Given the description of an element on the screen output the (x, y) to click on. 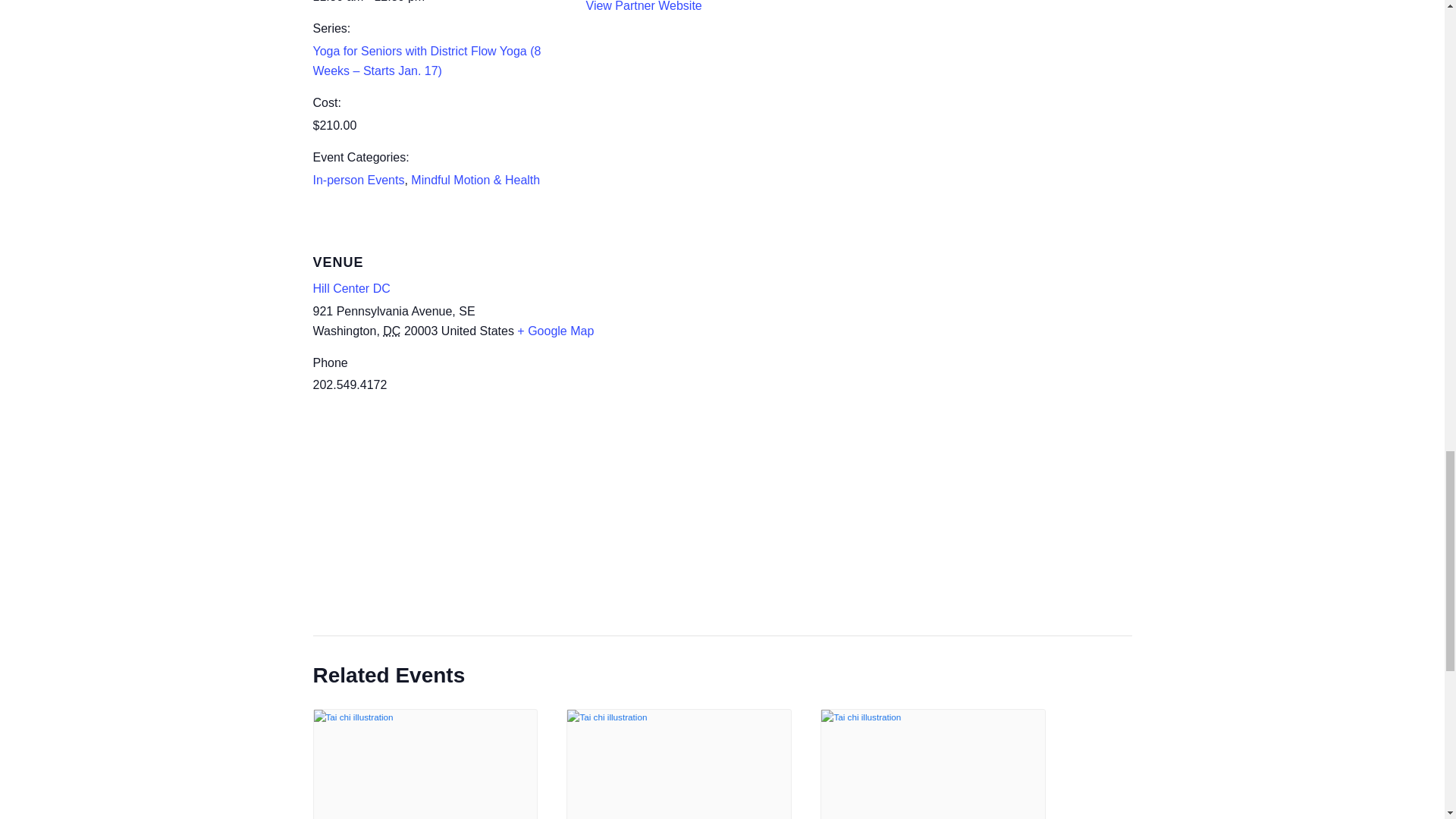
Click to view a Google Map (555, 330)
2024-03-22 (440, 3)
District of Columbia (391, 330)
